Given the description of an element on the screen output the (x, y) to click on. 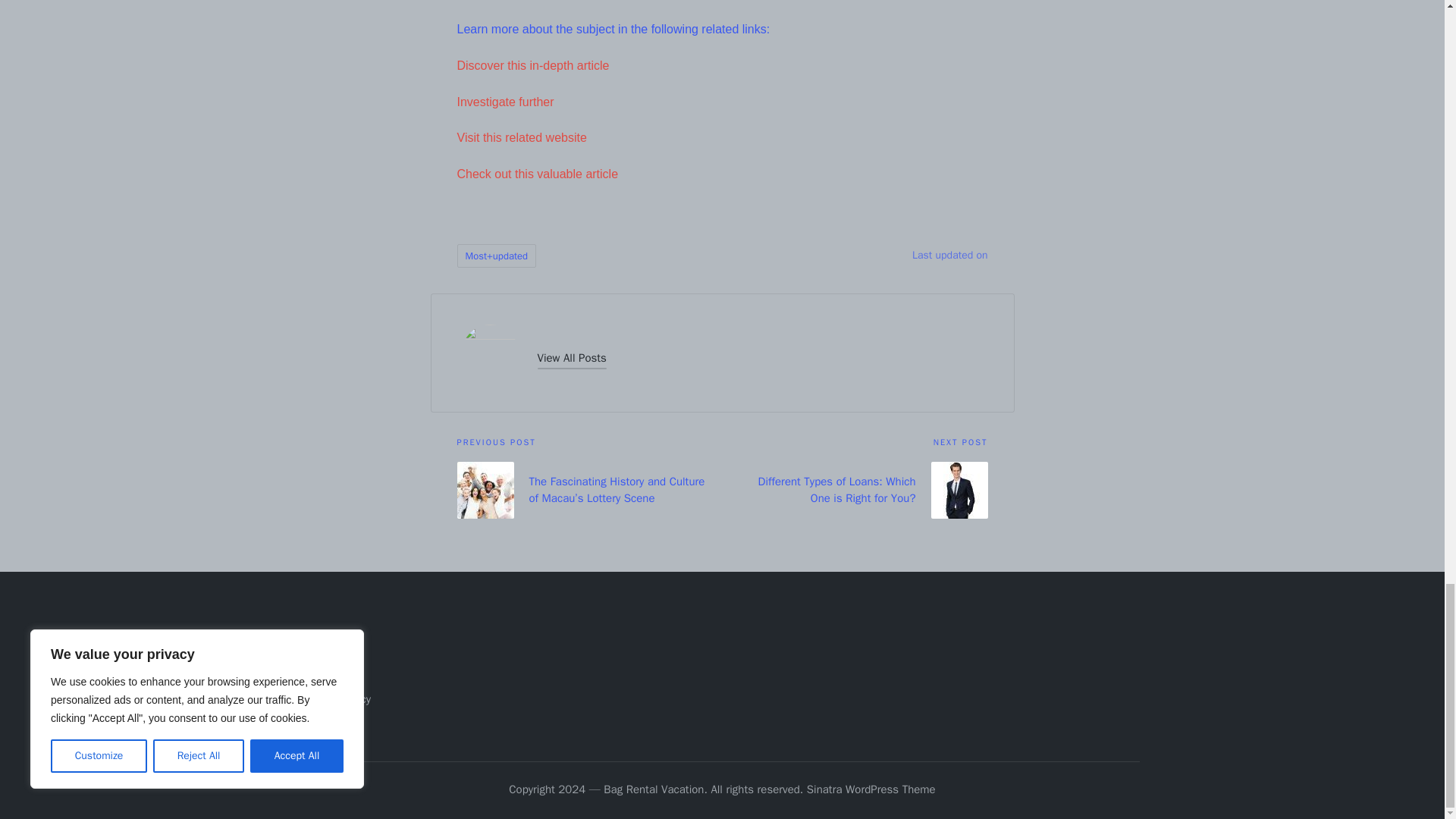
View All Posts (571, 358)
Privacy Policy (337, 698)
Investigate further (505, 101)
Visit this related website (521, 137)
Sinatra WordPress Theme (871, 790)
Check out this valuable article (537, 173)
Contact (323, 674)
Different Types of Loans: Which One is Right for You? (854, 489)
About (318, 649)
Discover this in-depth article (532, 65)
